Given the description of an element on the screen output the (x, y) to click on. 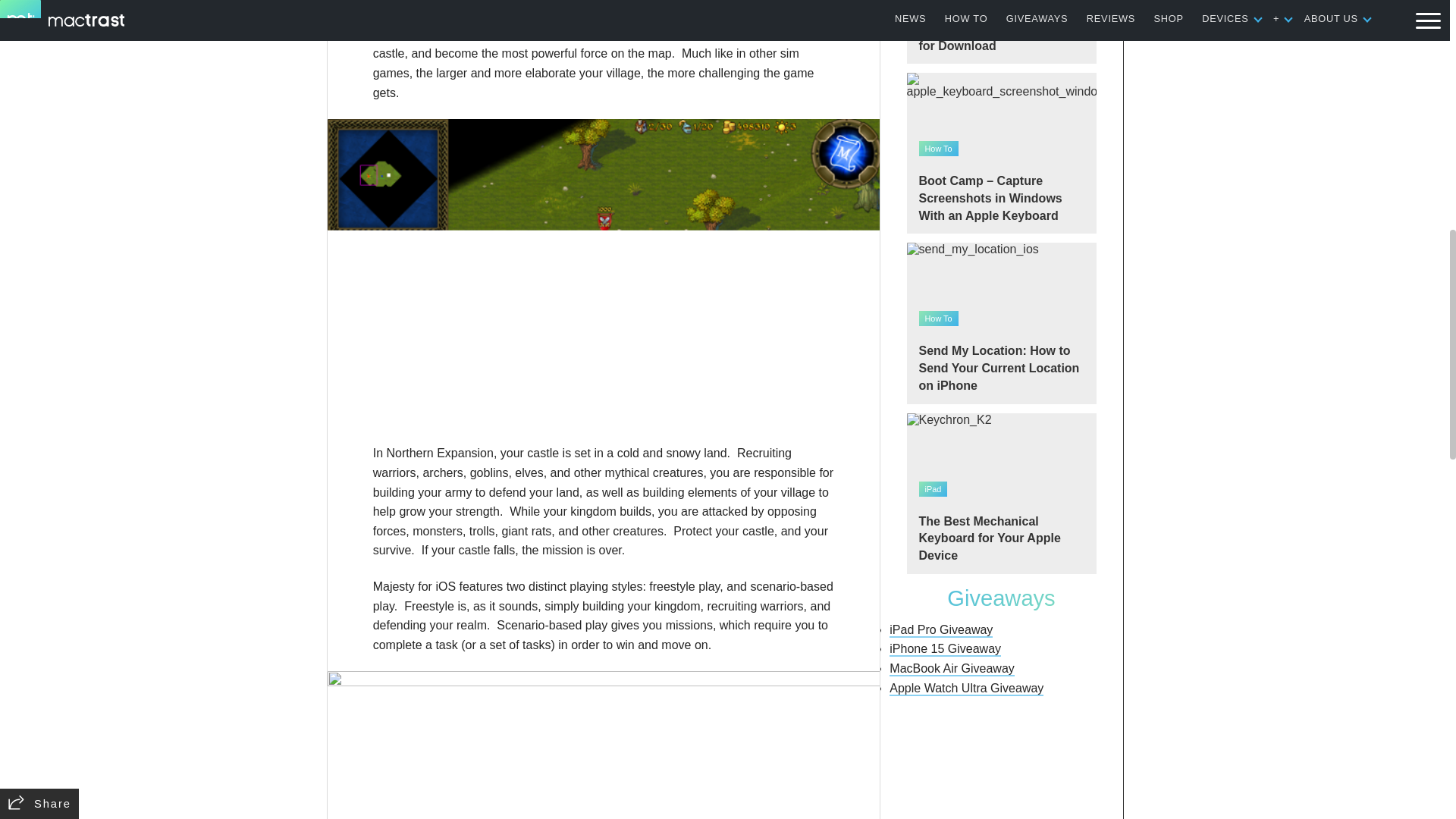
majesty2-guide (603, 744)
